Given the description of an element on the screen output the (x, y) to click on. 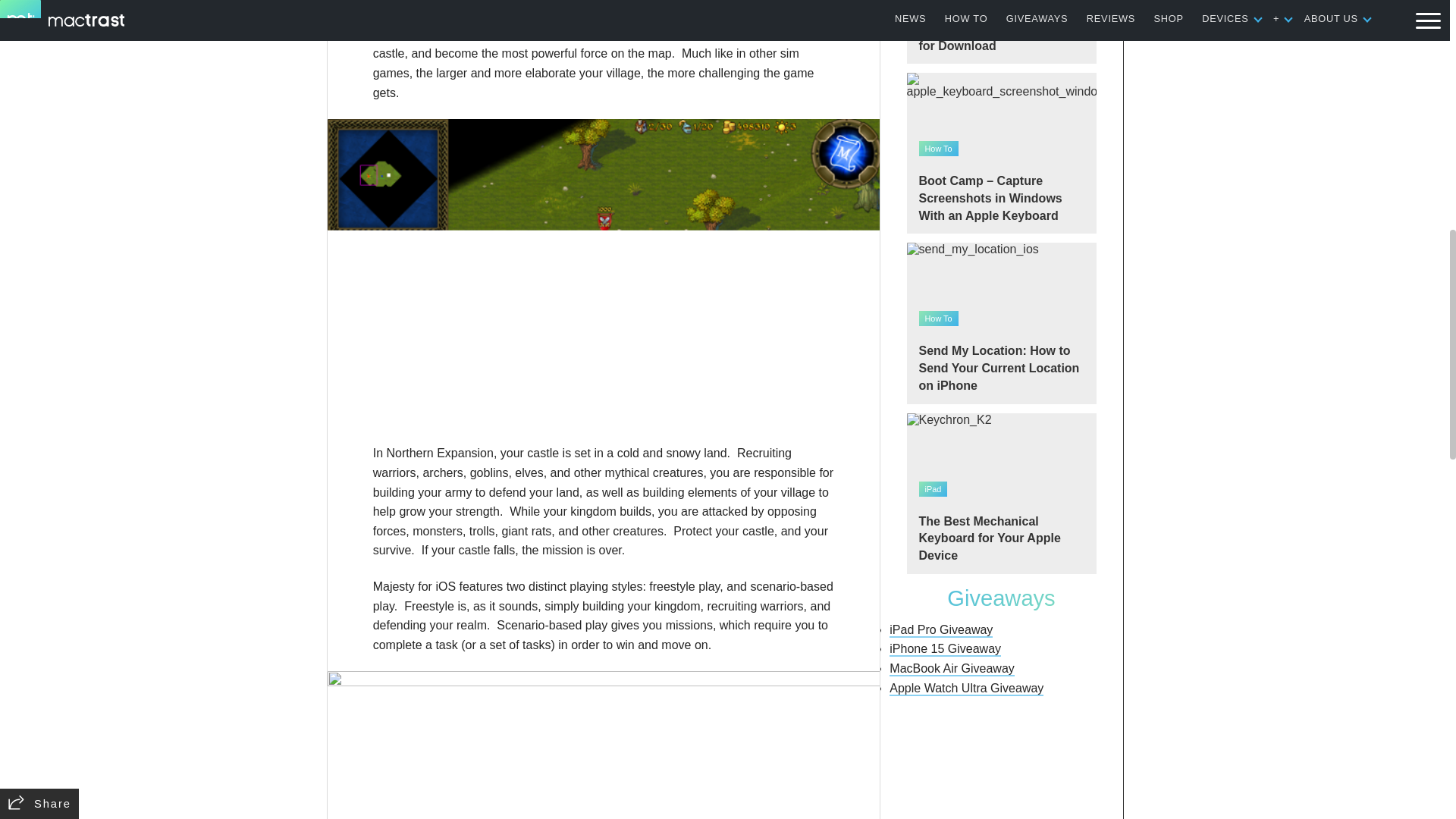
majesty2-guide (603, 744)
